Given the description of an element on the screen output the (x, y) to click on. 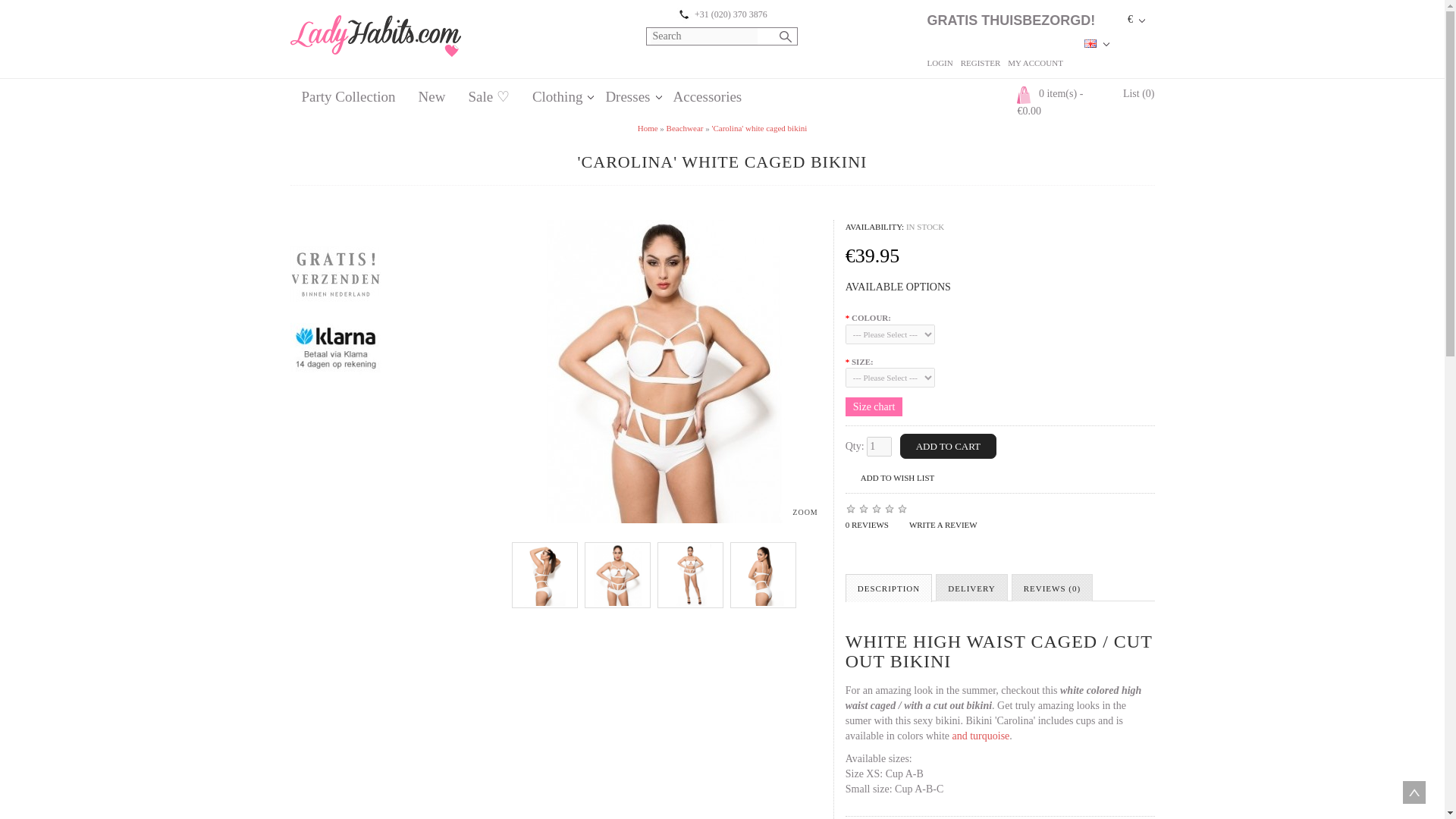
1 (878, 446)
Login (939, 62)
Clothing (557, 92)
English (1090, 43)
Register (980, 62)
Beachwear (684, 127)
Add to Cart (947, 446)
REGISTER (980, 62)
'Carolina' white caged bikini (758, 127)
LOGIN (939, 62)
